Given the description of an element on the screen output the (x, y) to click on. 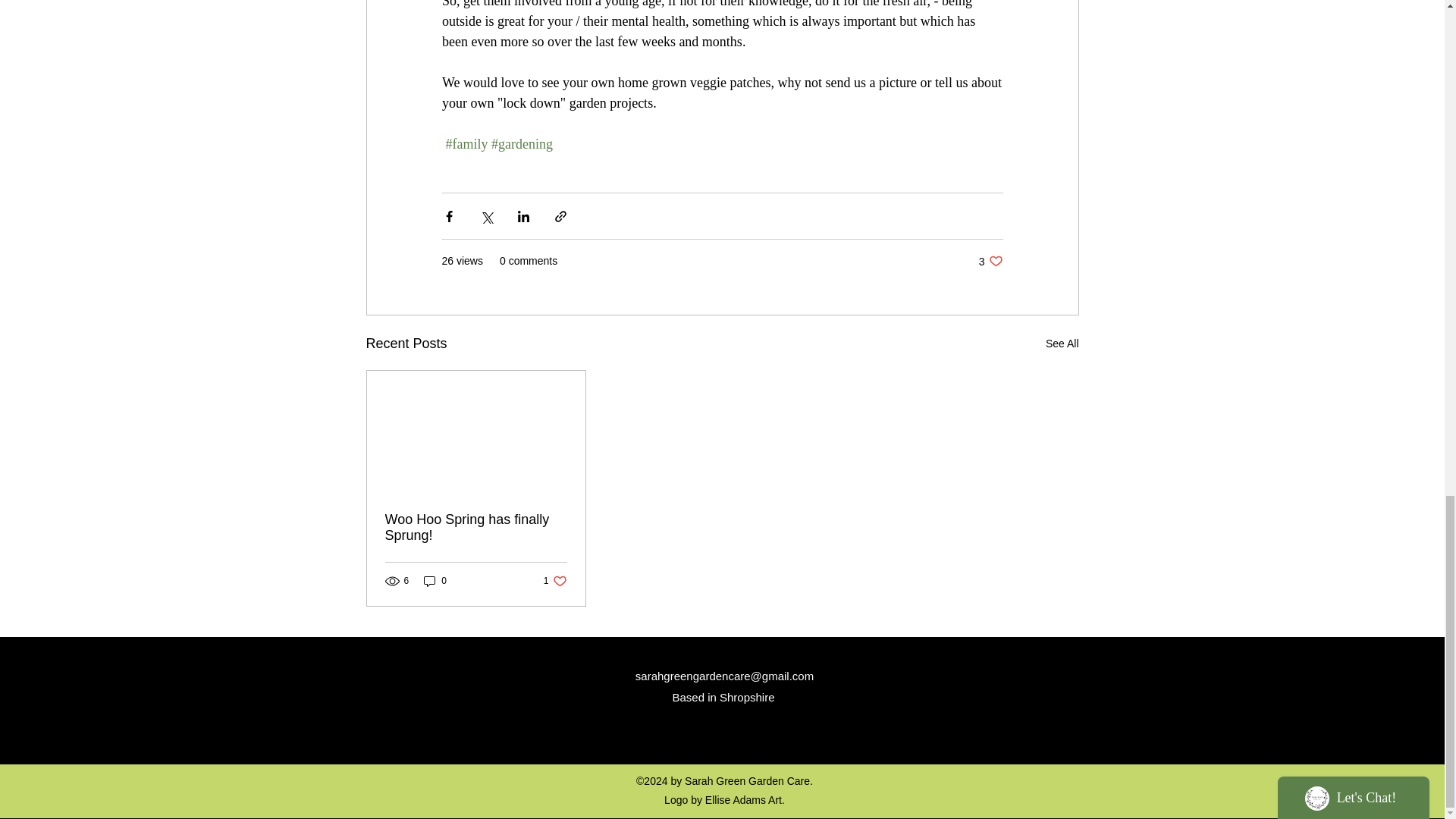
0 (990, 260)
Woo Hoo Spring has finally Sprung! (555, 581)
See All (435, 581)
